Given the description of an element on the screen output the (x, y) to click on. 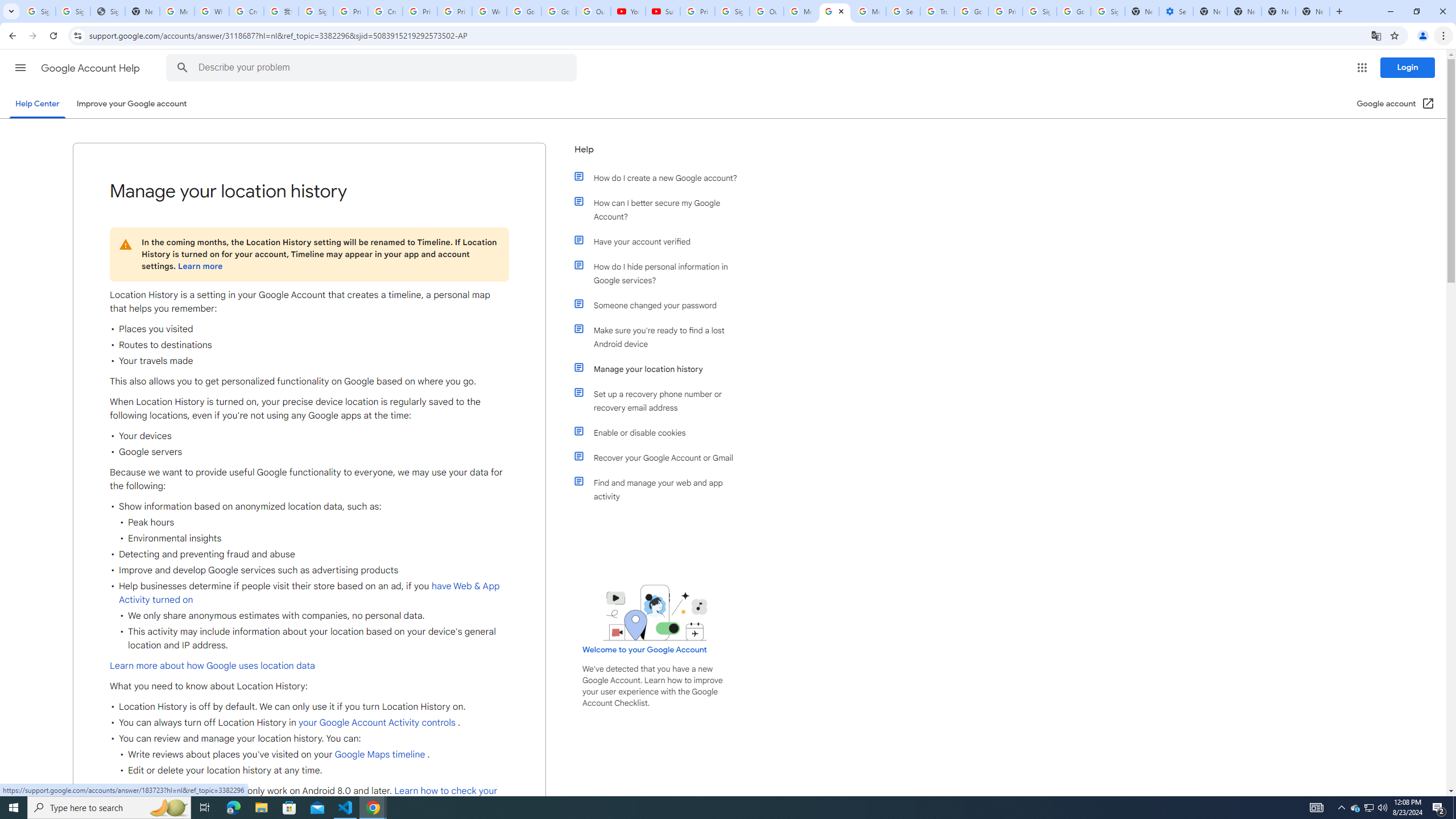
Google Maps timeline (379, 754)
Manage your location history (661, 368)
Enable or disable cookies (661, 432)
Google Account Help (91, 68)
Search the Help Center (181, 67)
Create your Google Account (246, 11)
